Given the description of an element on the screen output the (x, y) to click on. 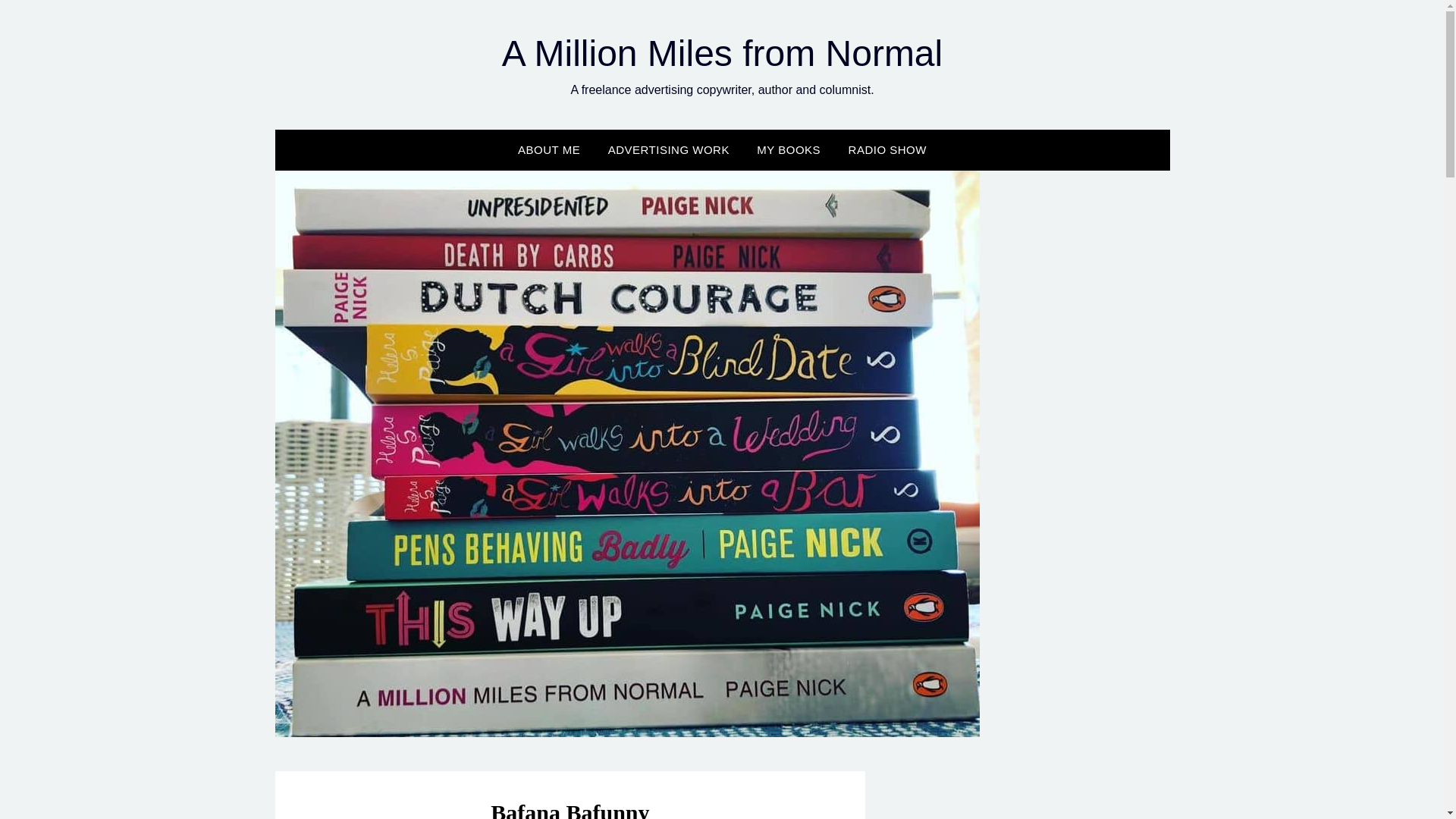
ABOUT ME (548, 149)
A Million Miles from Normal (722, 53)
ADVERTISING WORK (668, 149)
RADIO SHOW (887, 149)
MY BOOKS (788, 149)
